Given the description of an element on the screen output the (x, y) to click on. 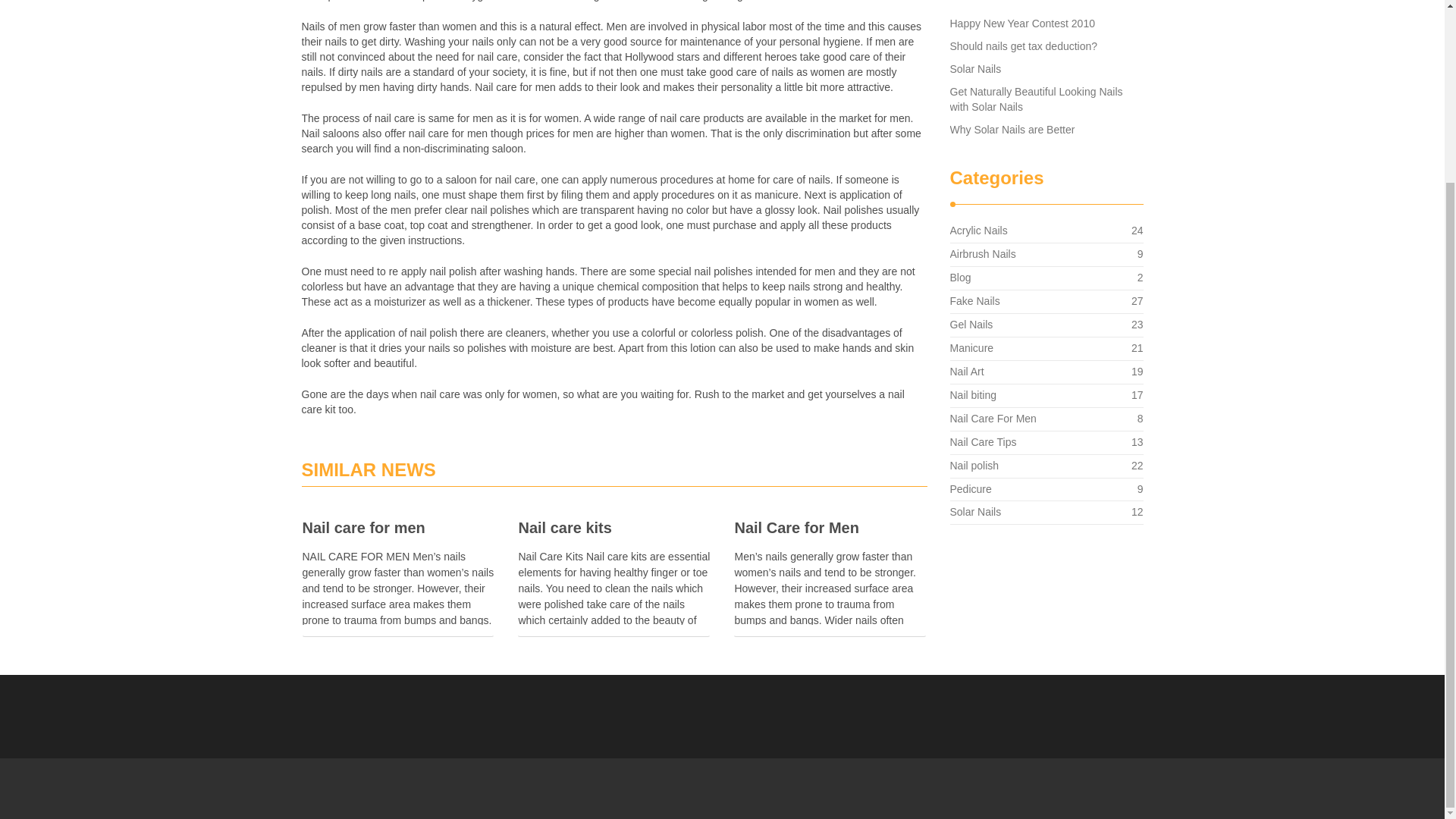
Should nails get tax deduction? (1023, 45)
Happy New Year Contest 2010 (973, 300)
Get Naturally Beautiful Looking Nails with Solar Nails (1021, 22)
Nail Care for Men (1035, 98)
Nail care kits (829, 527)
Solar Nails (614, 527)
Nail care for men (978, 230)
